Given the description of an element on the screen output the (x, y) to click on. 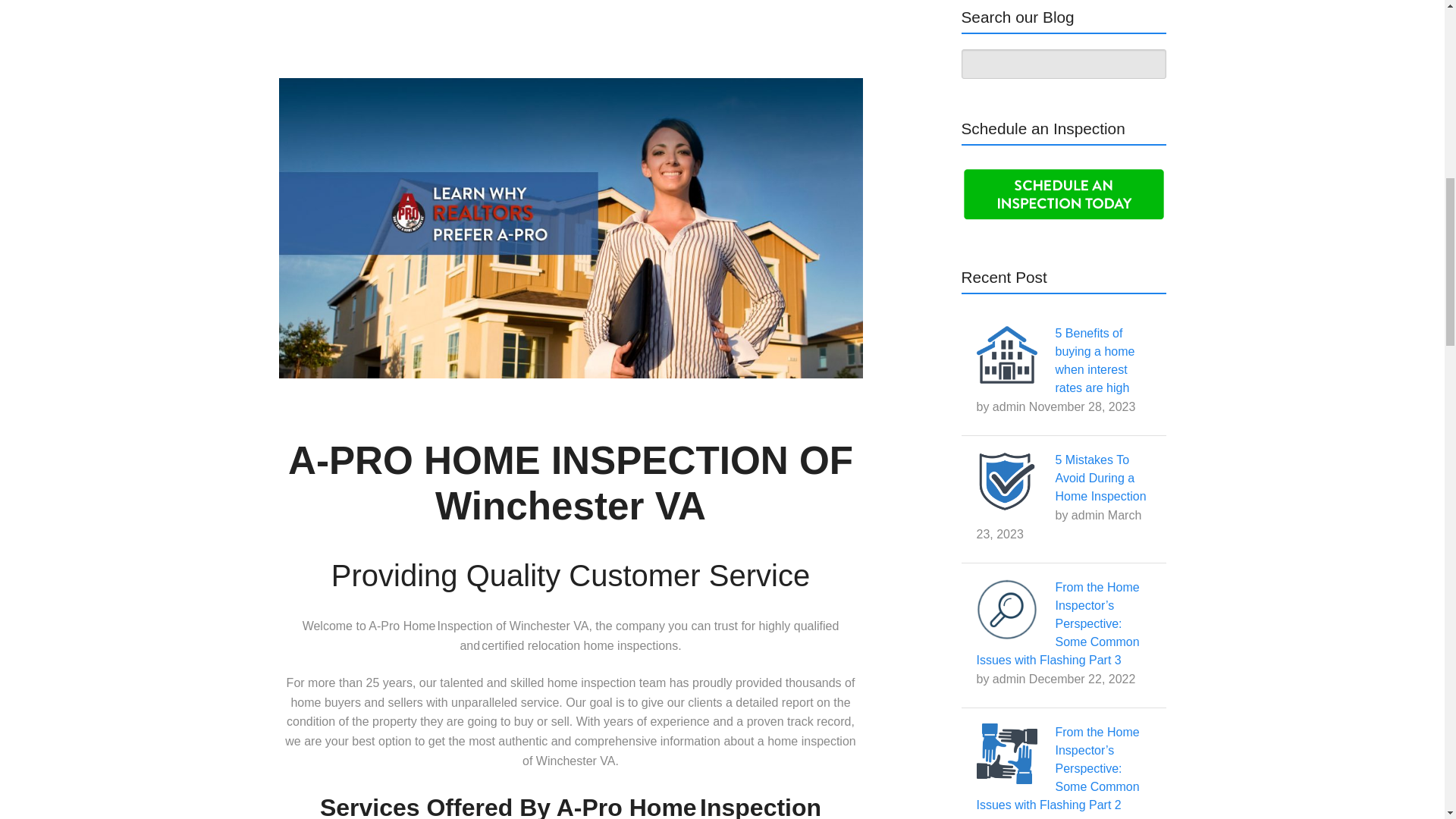
5 Benefits of buying a home when interest rates are high (1095, 359)
5 Mistakes To Avoid During a Home Inspection (1101, 477)
5 Mistakes To Avoid During a Home Inspection (1101, 477)
5 Benefits of buying a home when interest rates are high (1095, 359)
